Given the description of an element on the screen output the (x, y) to click on. 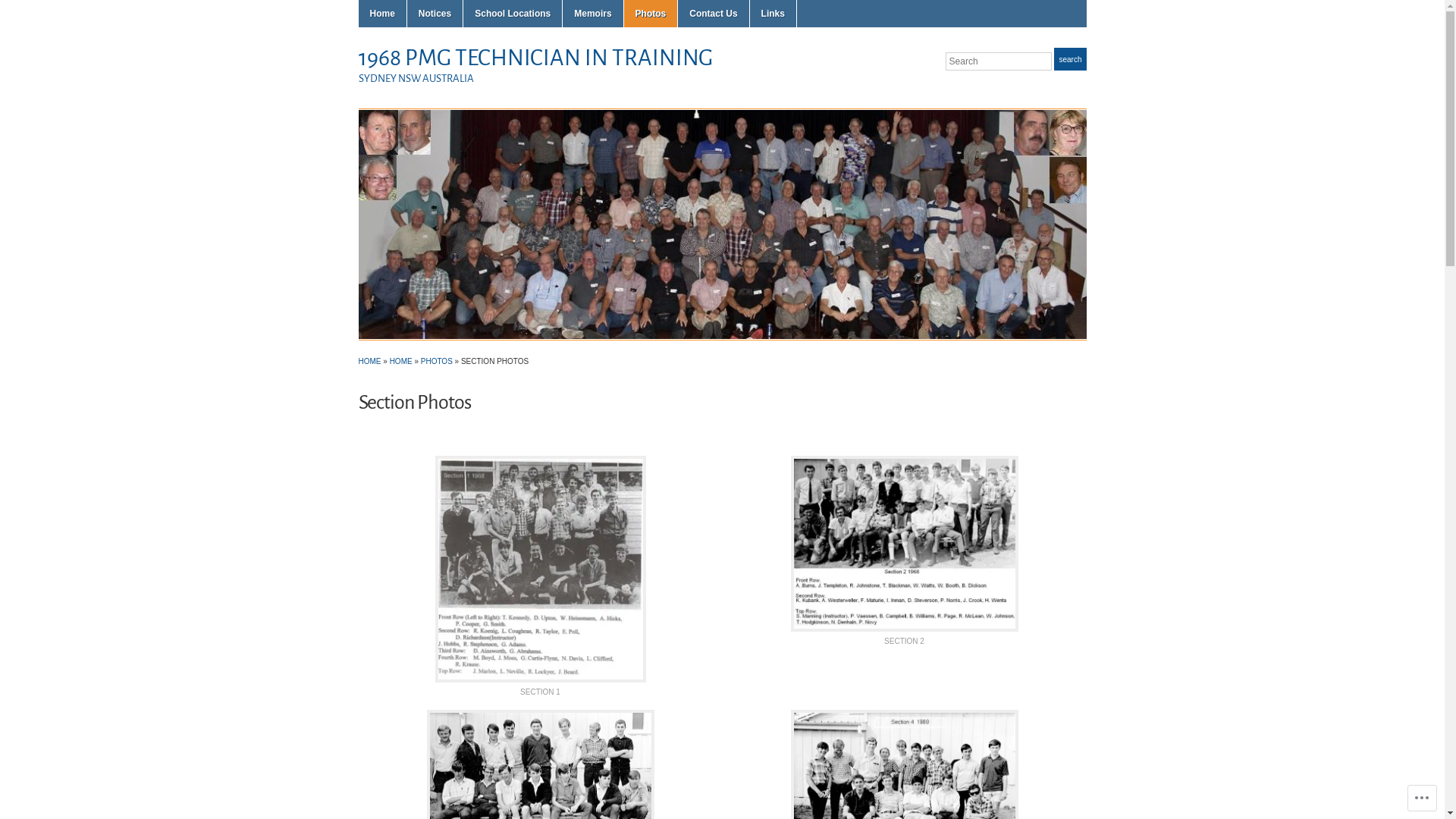
Notices Element type: text (434, 13)
HOME Element type: text (368, 361)
School Locations Element type: text (512, 13)
Photos Element type: text (650, 13)
1968 PMG Technician in Training Element type: text (721, 222)
PHOTOS Element type: text (436, 361)
Links Element type: text (772, 13)
search Element type: text (1069, 58)
Contact Us Element type: text (712, 13)
Memoirs Element type: text (592, 13)
Home Element type: text (381, 13)
1968 PMG TECHNICIAN IN TRAINING Element type: text (534, 57)
HOME Element type: text (400, 361)
